Given the description of an element on the screen output the (x, y) to click on. 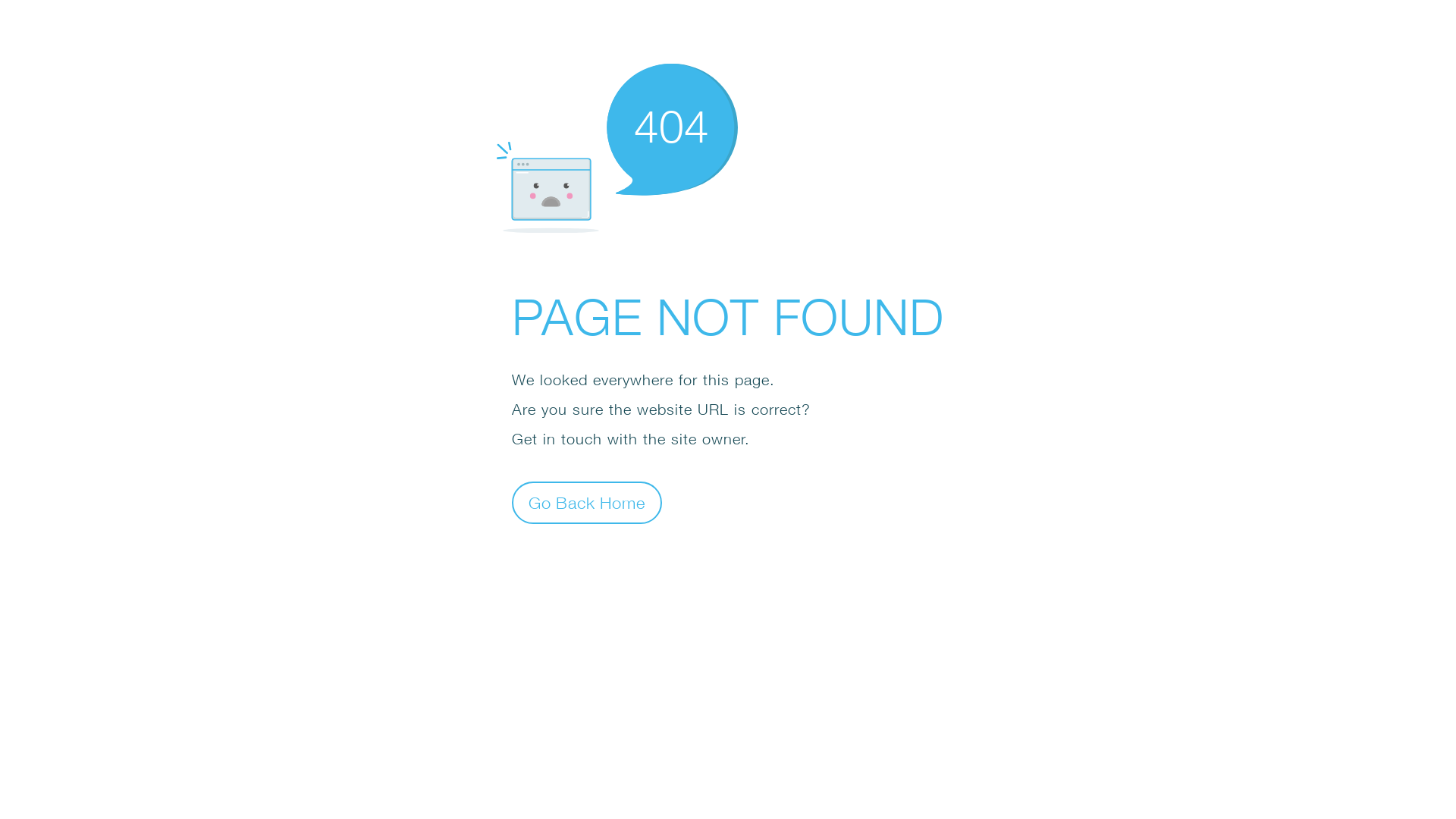
Go Back Home Element type: text (586, 502)
